Given the description of an element on the screen output the (x, y) to click on. 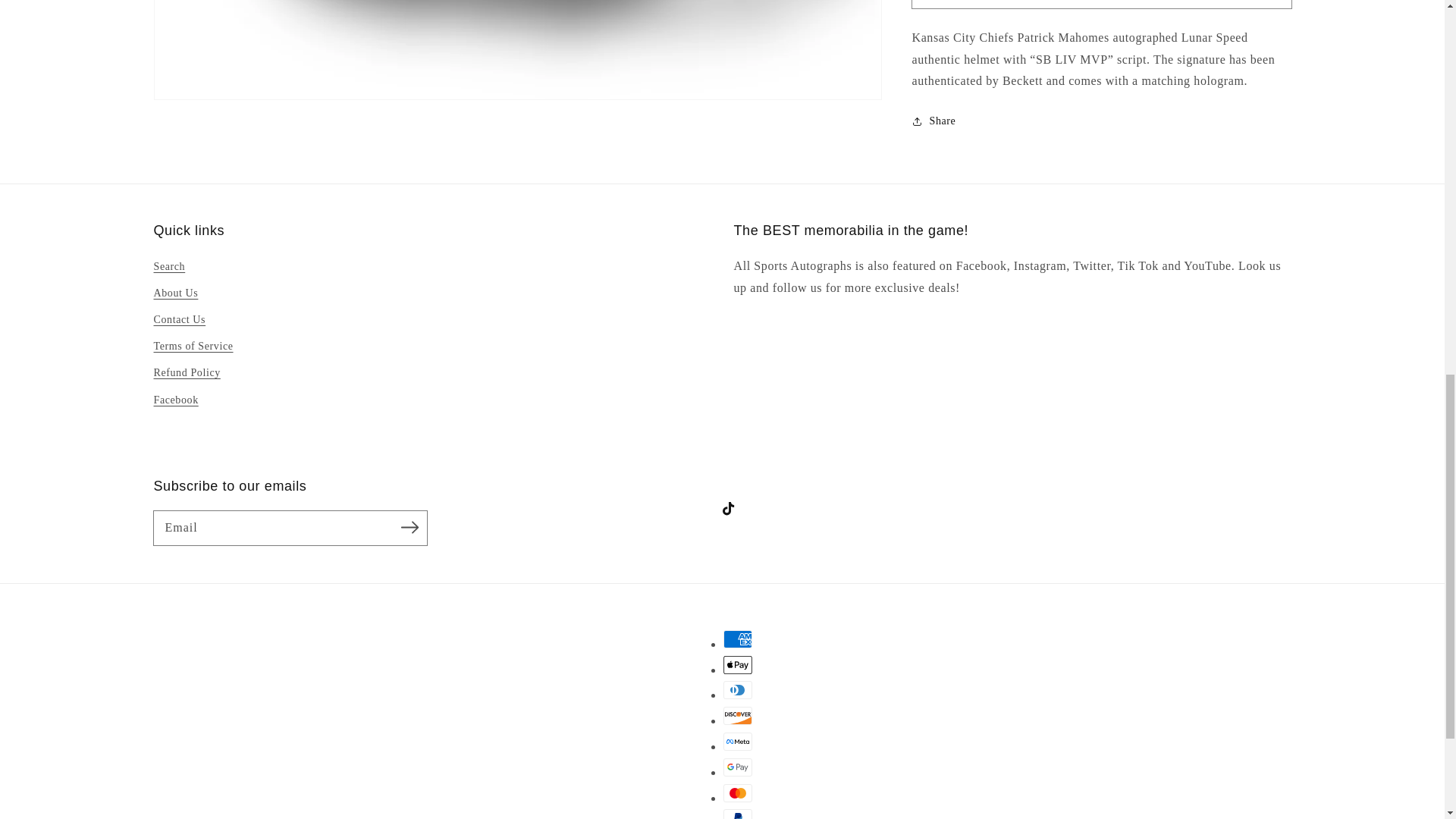
Google Pay (737, 767)
American Express (737, 638)
Discover (737, 715)
Diners Club (737, 689)
PayPal (737, 814)
Apple Pay (737, 665)
Mastercard (737, 792)
Open media 1 in gallery view (517, 49)
Meta Pay (737, 741)
